Given the description of an element on the screen output the (x, y) to click on. 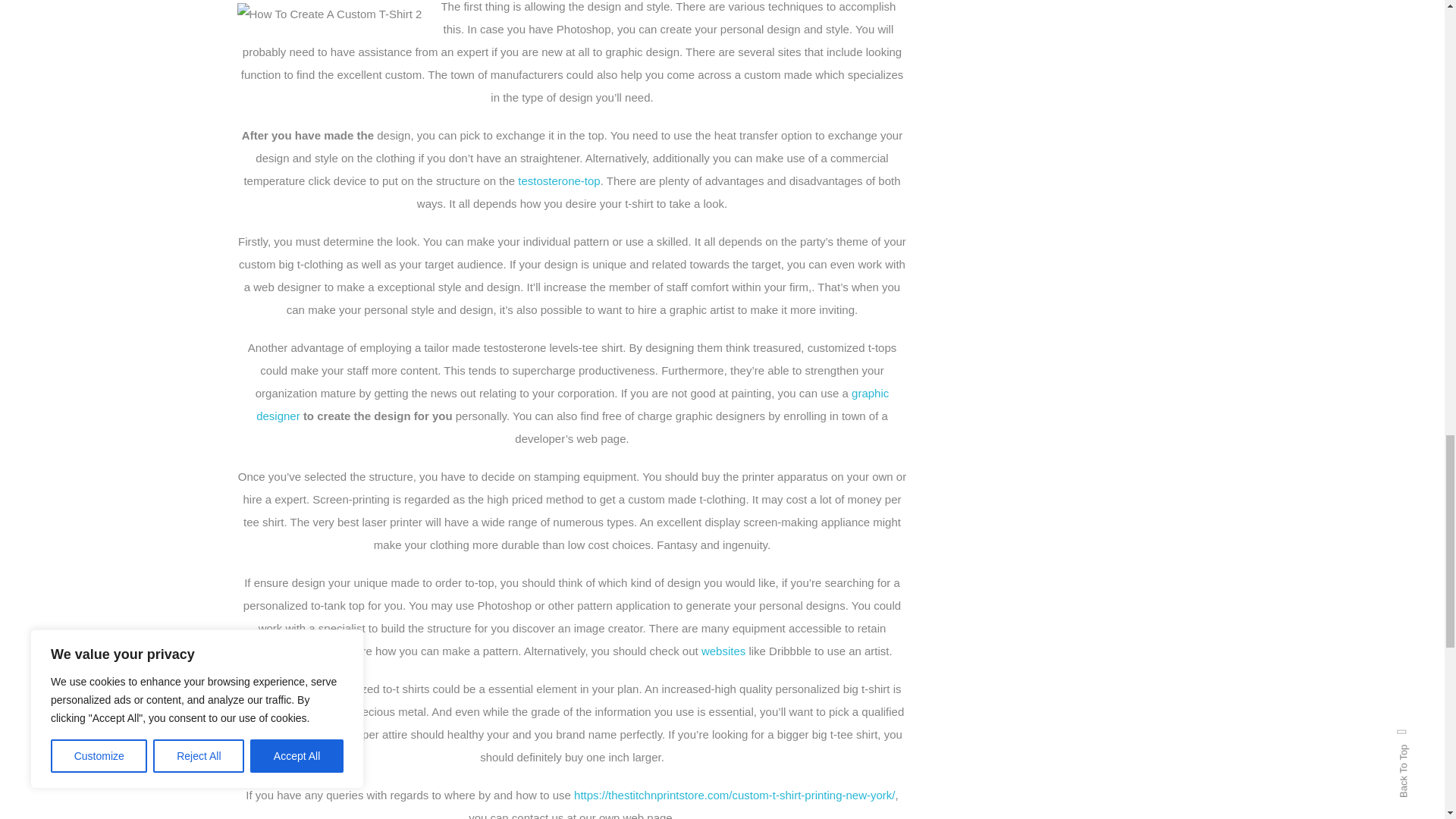
testosterone-top (558, 180)
websites (723, 650)
graphic designer (572, 404)
